Given the description of an element on the screen output the (x, y) to click on. 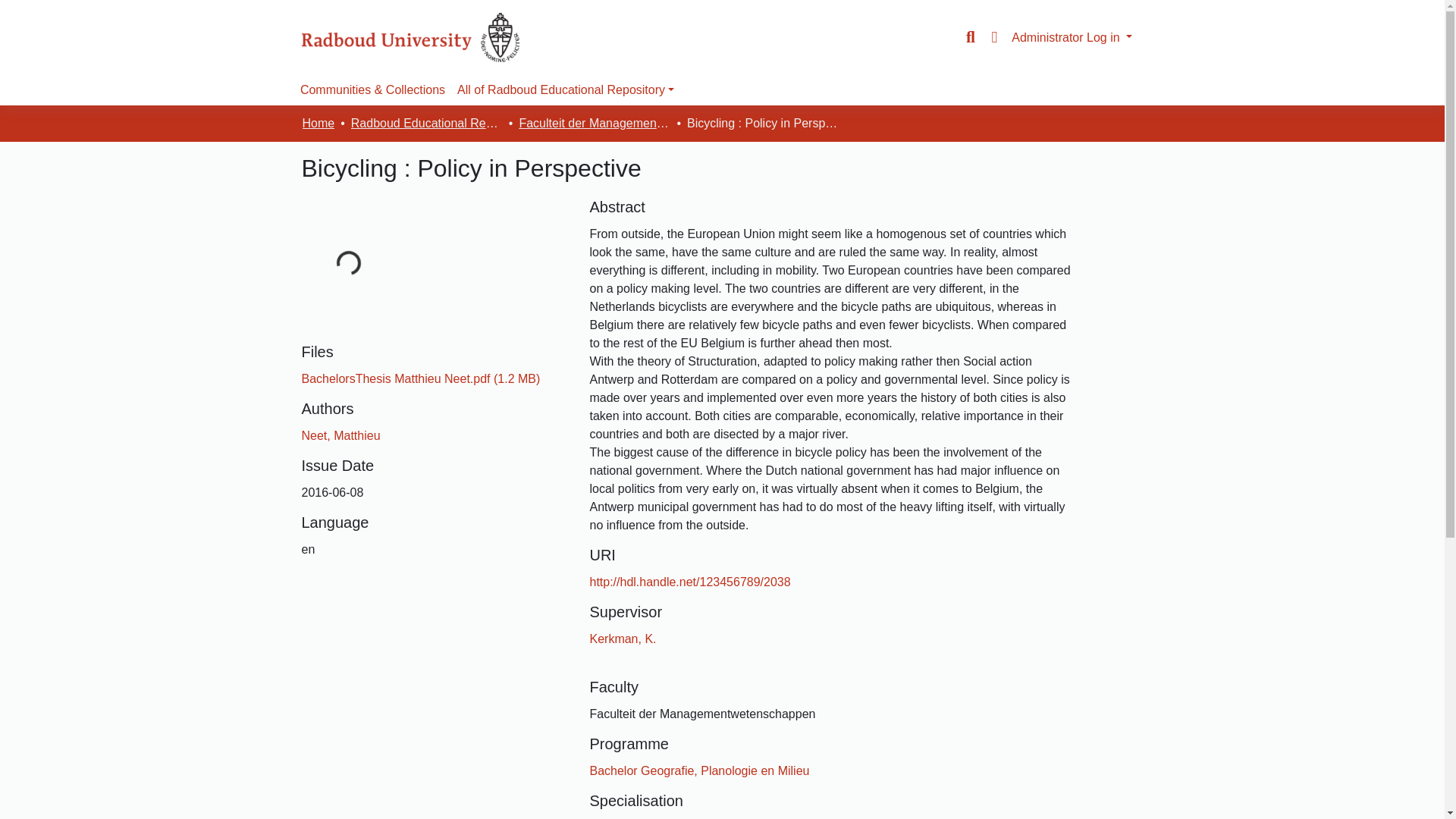
Neet, Matthieu (340, 435)
Radboud Educational Repository (426, 123)
All of Radboud Educational Repository (565, 90)
Search (970, 37)
Bachelor Geografie, Planologie en Milieu (699, 770)
Language switch (993, 37)
Faculteit der Managementwetenschappen (593, 123)
Home (317, 123)
Administrator Log in (1072, 36)
Kerkman, K. (622, 638)
